Given the description of an element on the screen output the (x, y) to click on. 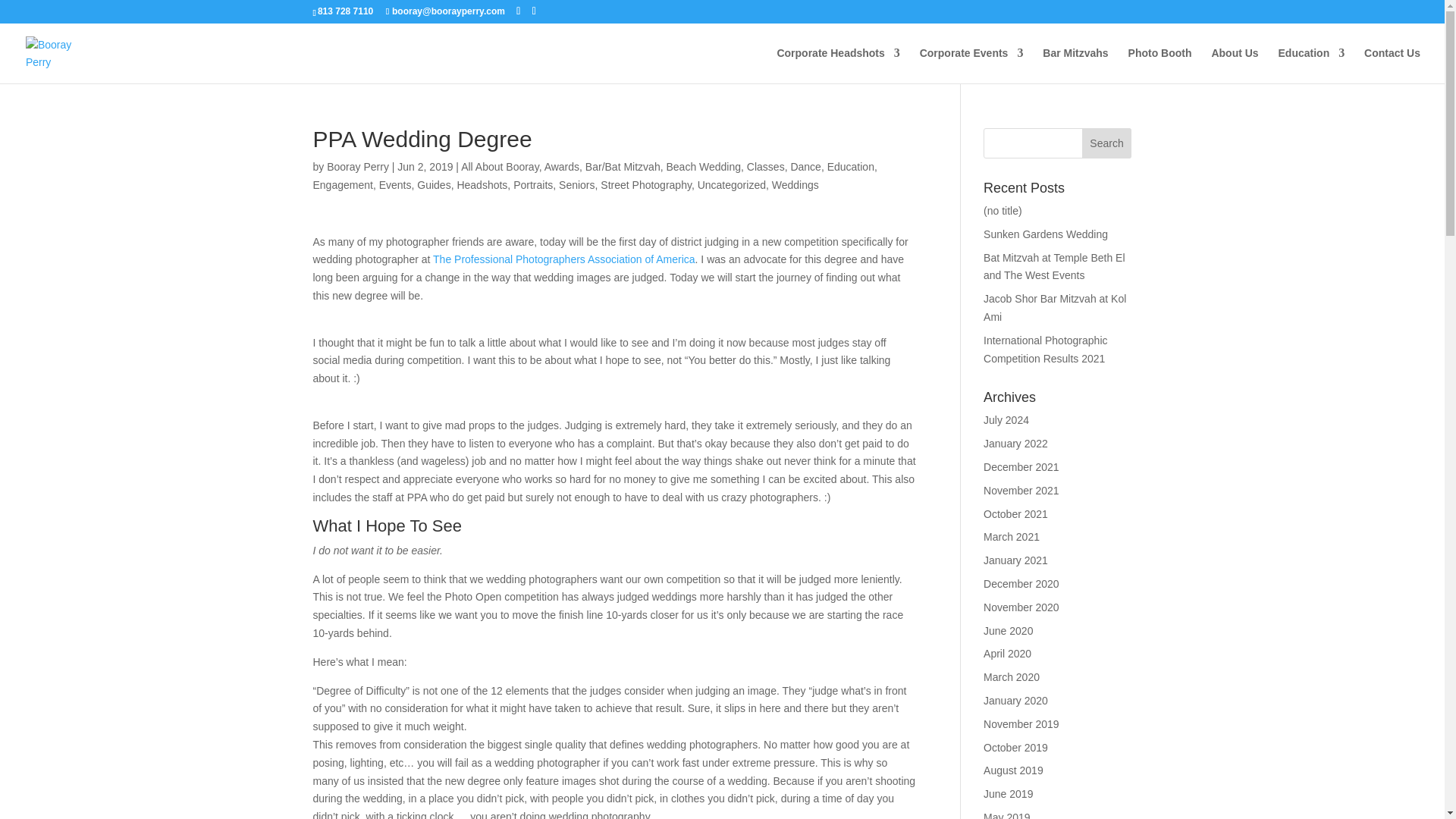
Search (1106, 142)
Bar Mitzvahs (1075, 65)
Booray Perry (357, 166)
Posts by Booray Perry (357, 166)
Events (395, 184)
Classes (765, 166)
The Professional Photographers Association of America (563, 259)
About Us (1234, 65)
Street Photography (645, 184)
All About Booray (499, 166)
Uncategorized (731, 184)
Corporate Headshots (837, 65)
Beach Wedding (703, 166)
Corporate Events (971, 65)
Portraits (533, 184)
